Given the description of an element on the screen output the (x, y) to click on. 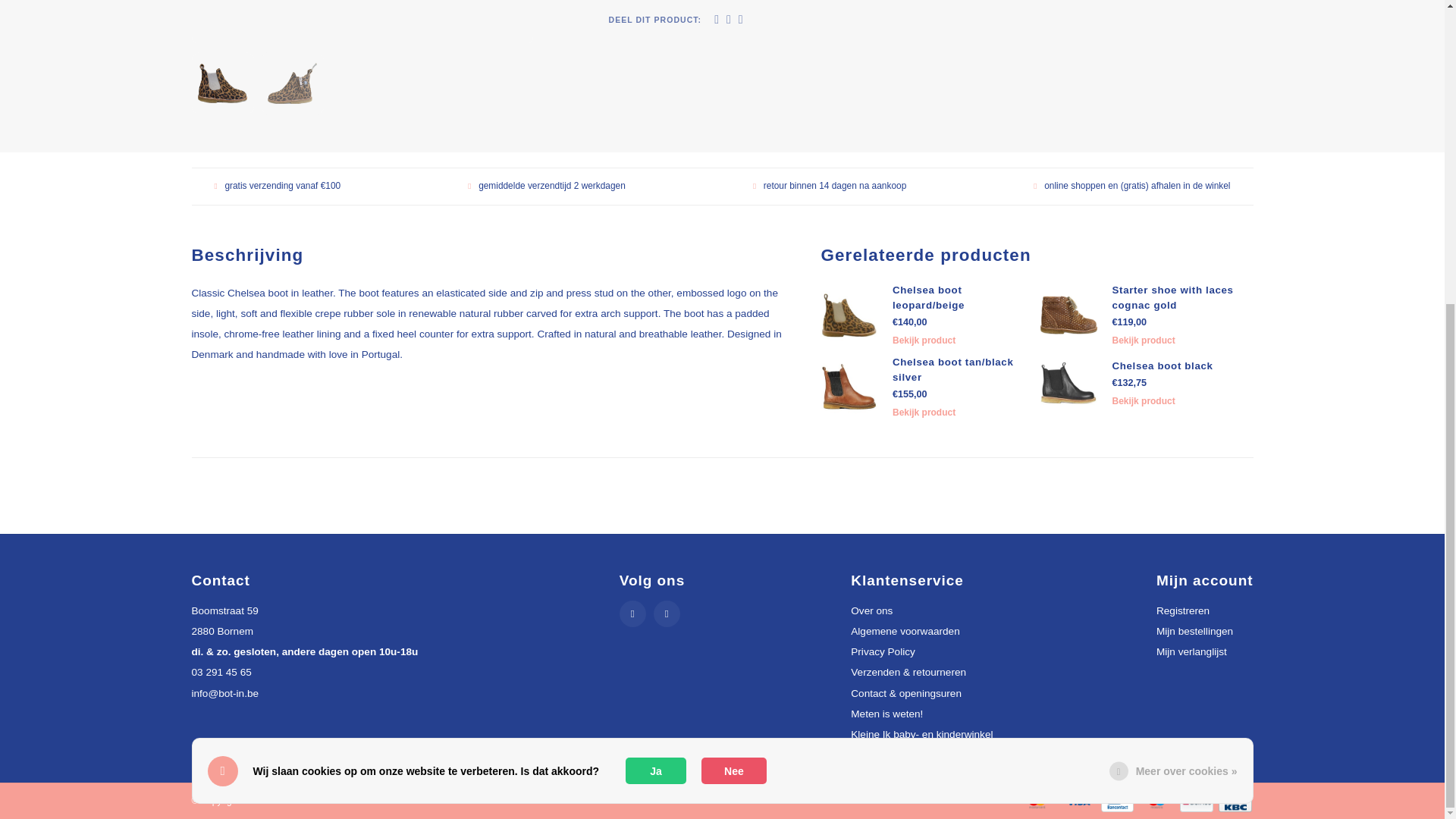
Mijn bestellingen (1194, 631)
Betaalmethoden (1077, 799)
angulus Starter Chelsea boot with zipper leopard brown (222, 83)
Betaalmethoden (1035, 799)
angulus Starter Chelsea boot with zipper leopard brown (362, 5)
Mijn verlanglijst (1191, 651)
Instagram Bot'in (666, 613)
angulus Starter Chelsea boot with zipper leopard brown (292, 83)
Registreren (1182, 610)
